Given the description of an element on the screen output the (x, y) to click on. 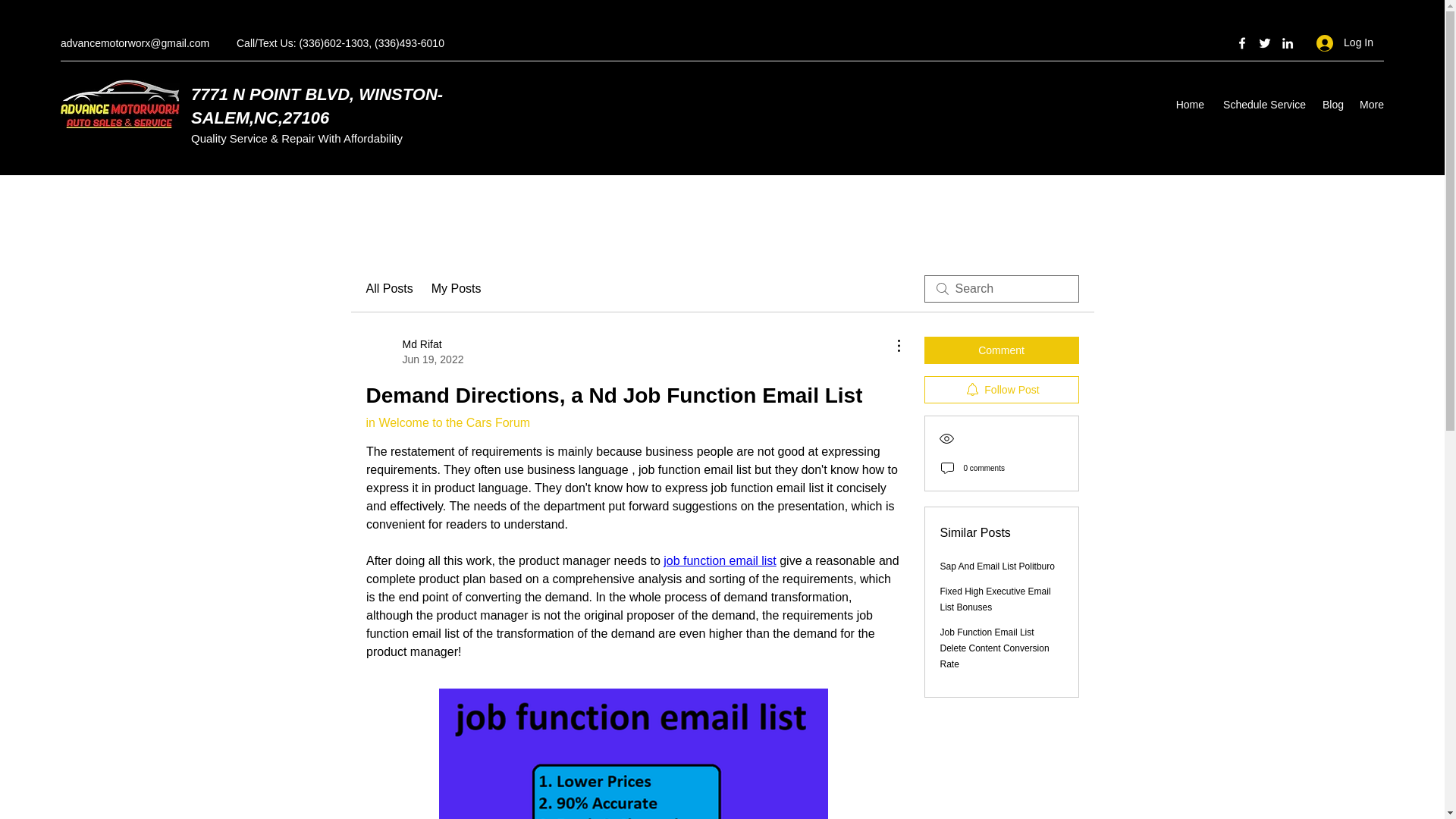
Log In (1345, 42)
in Welcome to the Cars Forum (447, 422)
Follow Post (1000, 389)
Job Function Email List Delete Content Conversion Rate (414, 351)
My Posts (994, 648)
Fixed High Executive Email List Bonuses (455, 289)
Sap And Email List Politburo (995, 599)
job function email list (997, 566)
7771 N POINT BLVD, WINSTON-SALEM,NC,27106 (719, 560)
Home (316, 106)
Blog (1189, 104)
All Posts (1332, 104)
Schedule Service (388, 289)
Comment (1262, 104)
